Given the description of an element on the screen output the (x, y) to click on. 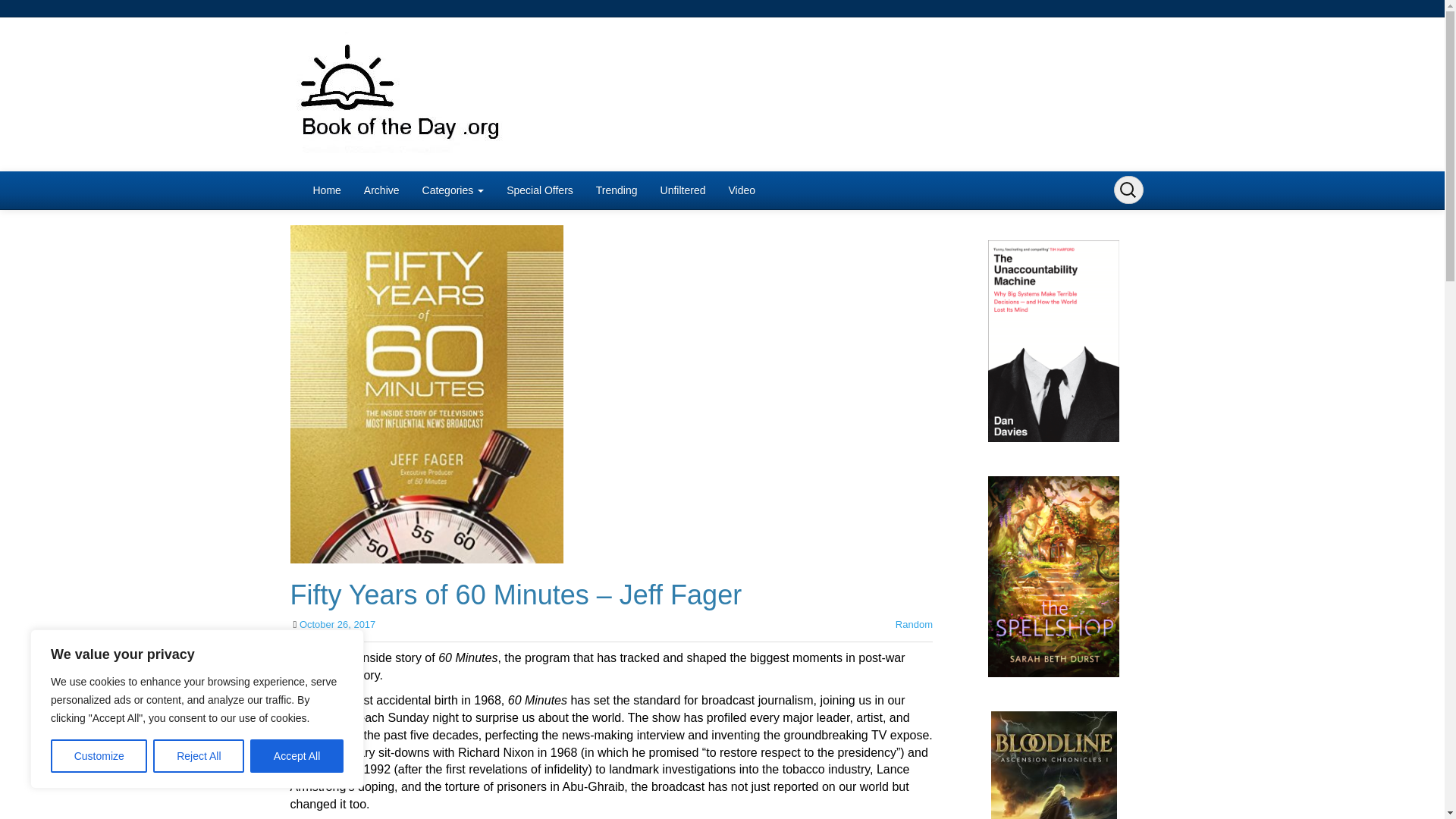
Reject All (198, 756)
Home (326, 190)
Customize (98, 756)
Accept All (296, 756)
Archive (381, 190)
12:05 am (337, 624)
Categories (453, 190)
